Given the description of an element on the screen output the (x, y) to click on. 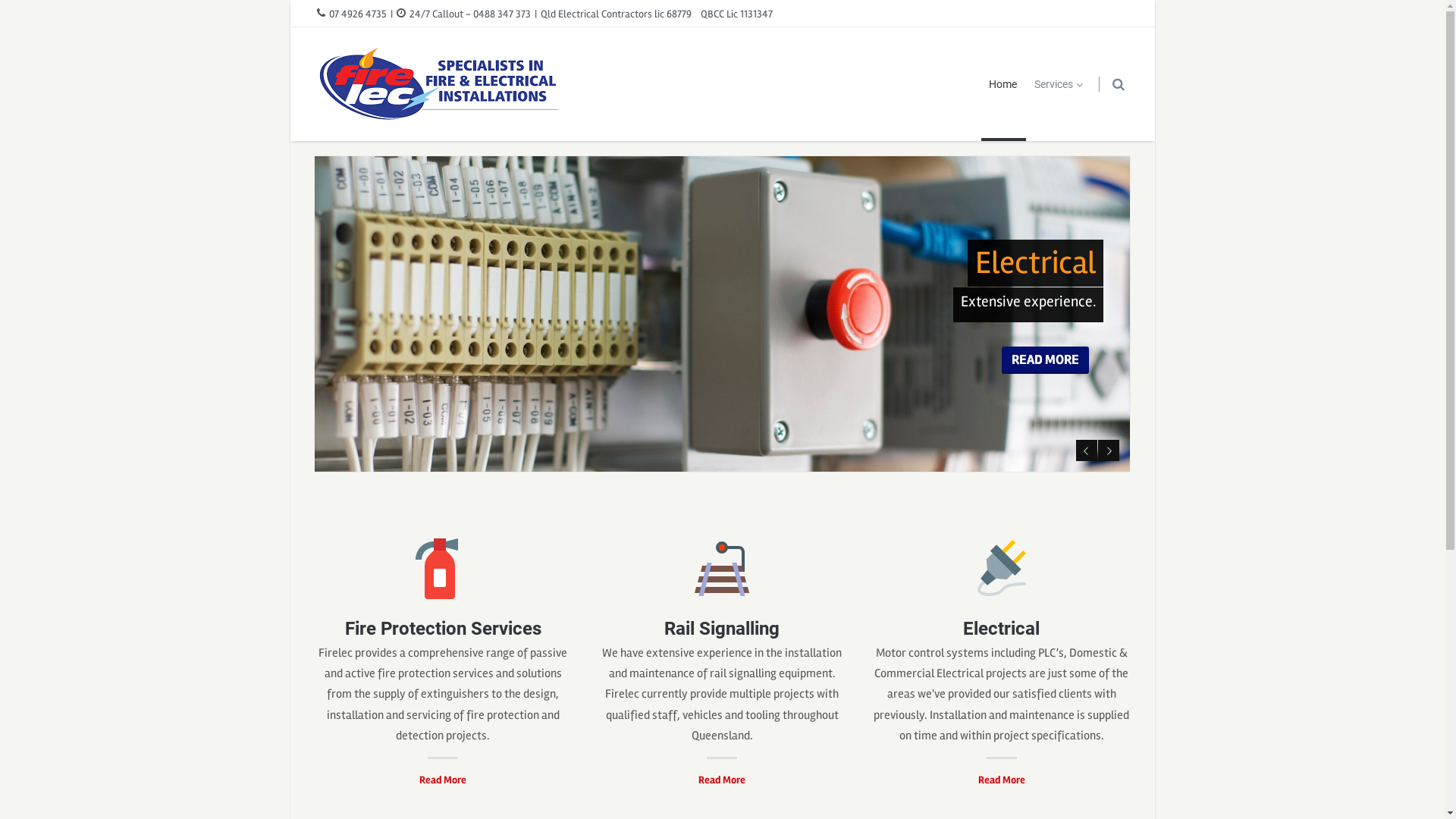
Read More Element type: text (1001, 779)
admin@firelec.com.au Element type: text (381, 727)
Read More Element type: text (442, 779)
Services Element type: text (1059, 84)
Next Element type: text (1108, 450)
Home Element type: text (1003, 84)
Previous Element type: text (1086, 450)
READ MORE Element type: text (1044, 359)
Read More Element type: text (721, 779)
